Given the description of an element on the screen output the (x, y) to click on. 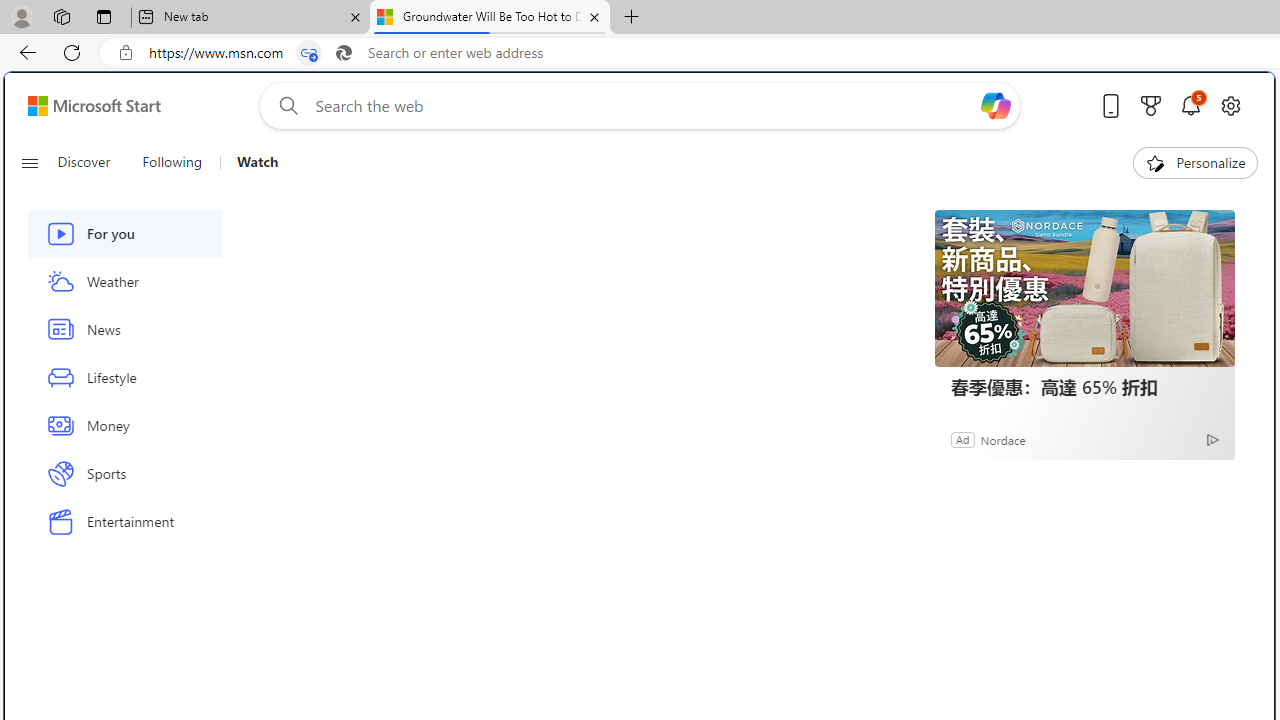
Watch (257, 162)
Skip to content (86, 105)
Following (173, 162)
Notifications (1190, 105)
Watch (249, 162)
Following (172, 162)
Microsoft rewards (1151, 105)
Microsoft Start (94, 105)
Ad (963, 439)
Class: button-glyph (29, 162)
Tabs in split screen (308, 53)
